Given the description of an element on the screen output the (x, y) to click on. 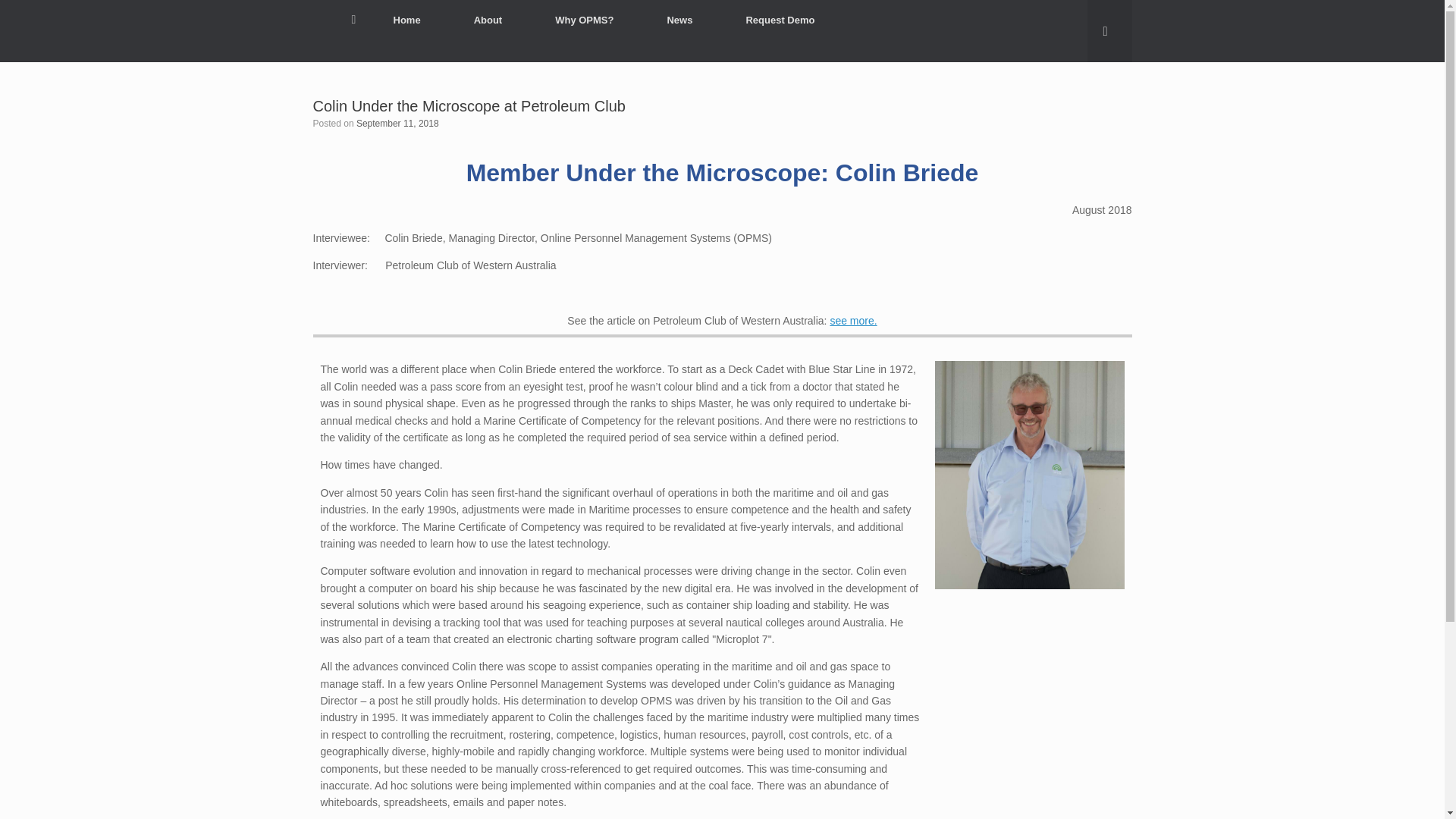
News (679, 20)
September 11, 2018 (397, 122)
About (487, 20)
Request Demo (780, 20)
see more. (852, 320)
Why OPMS? (584, 20)
Home (385, 31)
1:12 PM (397, 122)
